Given the description of an element on the screen output the (x, y) to click on. 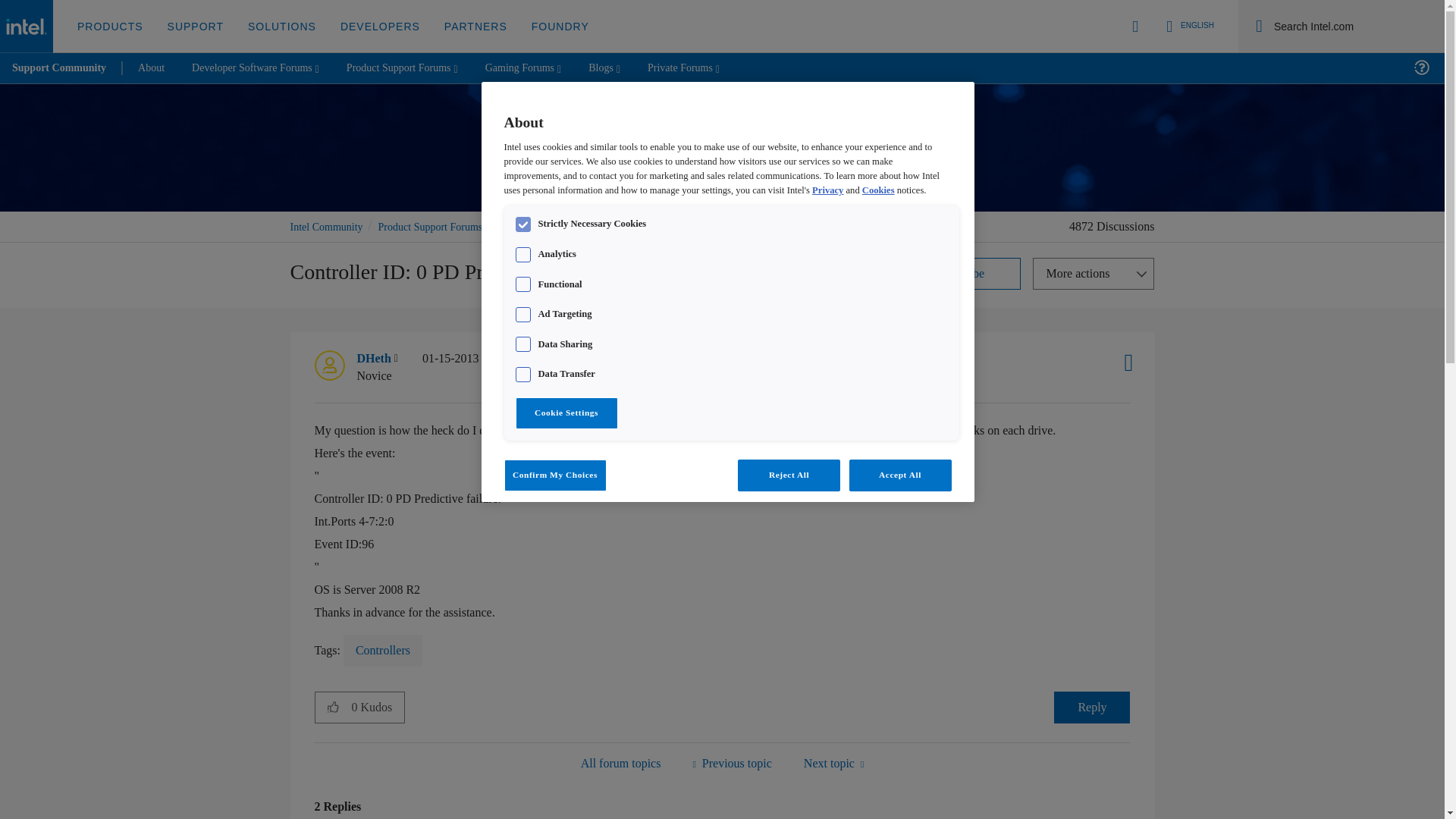
PRODUCTS (110, 26)
Server Products (620, 762)
Click here to give kudos to this post. (332, 706)
Language Selector (1187, 26)
S1200BTLR with Digium X100P PCI Card (731, 762)
DHeth (328, 365)
The total number of kudos this post has received. (377, 707)
Posted on (485, 367)
Please check my parts list for S1200KPR home server (833, 762)
Show option menu (1093, 273)
